Given the description of an element on the screen output the (x, y) to click on. 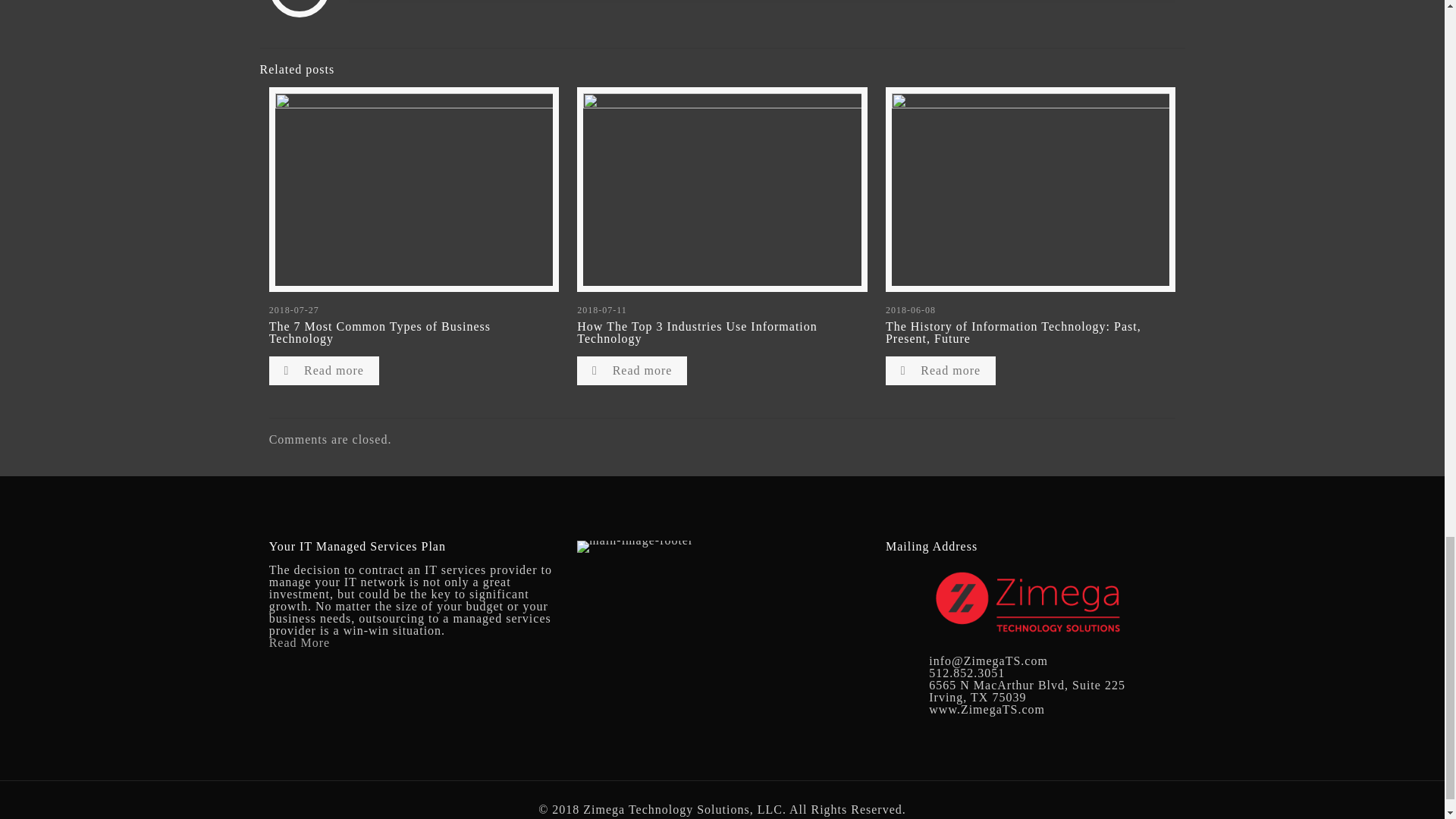
The 7 Most Common Types of Business Technology (379, 332)
How The Top 3 Industries Use Information Technology (696, 332)
Read more (323, 370)
